Given the description of an element on the screen output the (x, y) to click on. 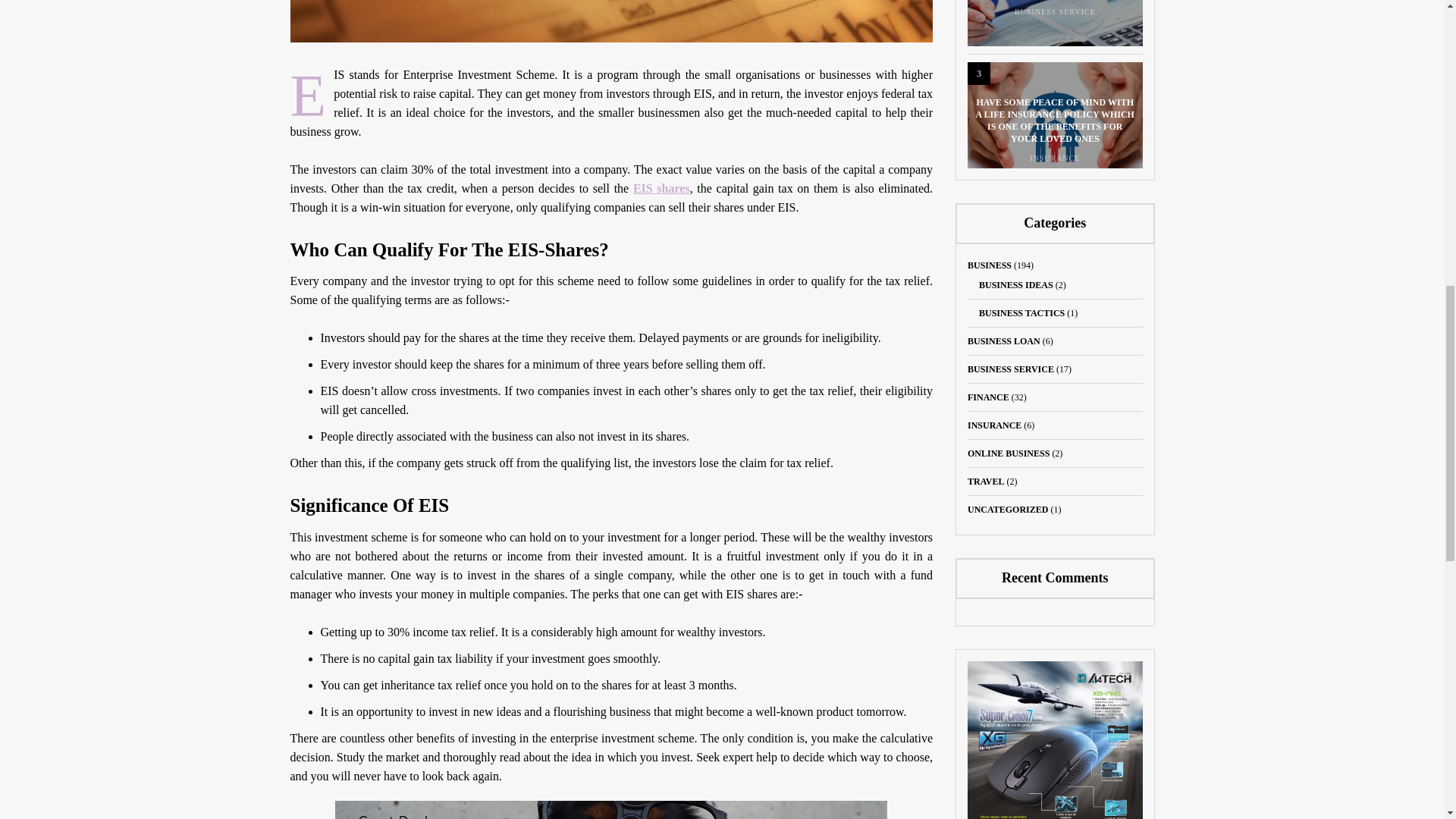
BUSINESS (989, 265)
EIS shares (661, 187)
BUSINESS IDEAS (1015, 285)
FINANCE (988, 397)
BUSINESS LOAN (1004, 340)
INSURANCE (1054, 157)
BUSINESS SERVICE (1011, 368)
BUSINESS TACTICS (1021, 312)
BUSINESS SERVICE (1055, 11)
INSURANCE (995, 425)
